Given the description of an element on the screen output the (x, y) to click on. 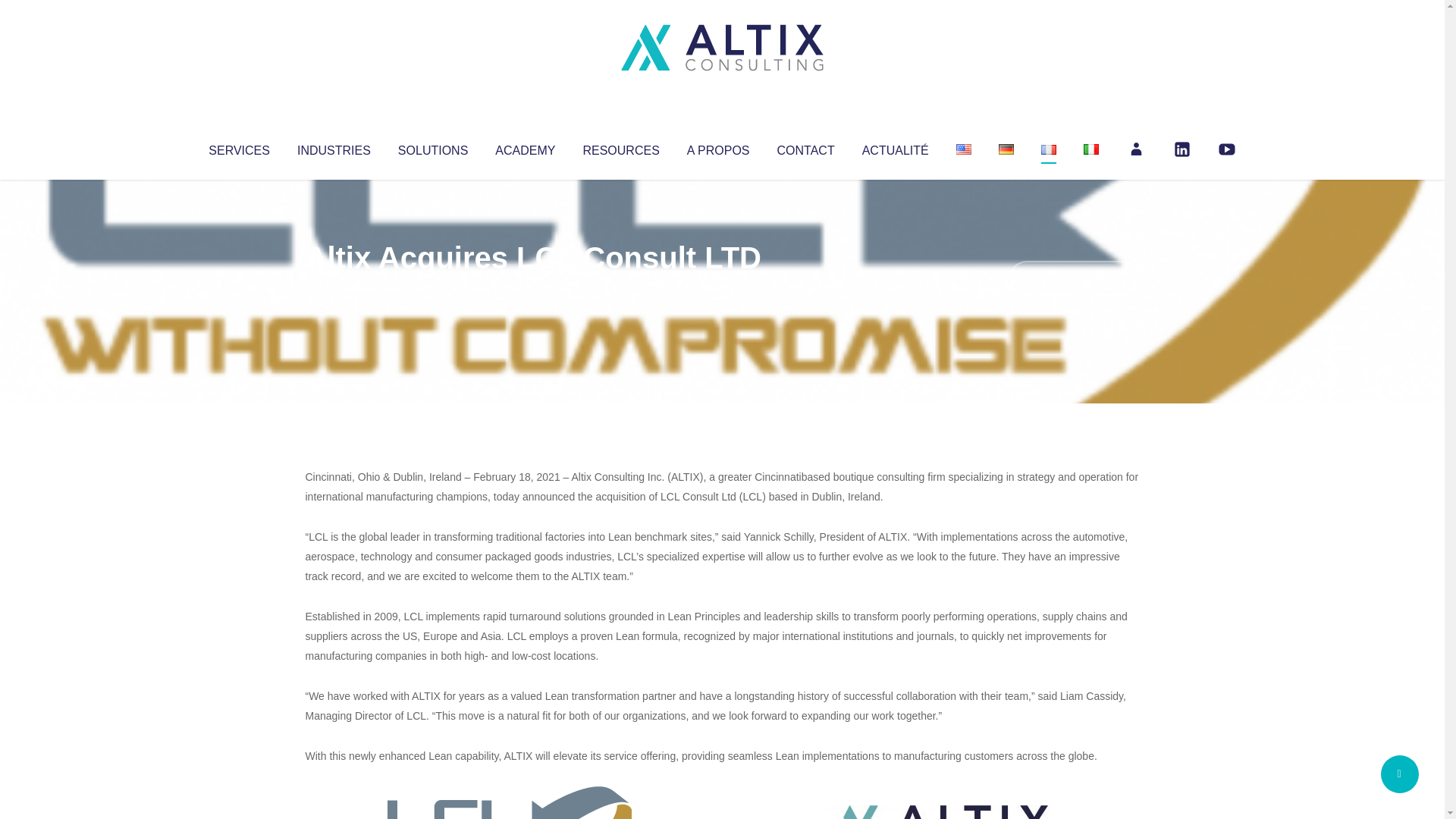
No Comments (1073, 278)
A PROPOS (718, 146)
Articles par Altix (333, 287)
Uncategorized (530, 287)
RESOURCES (620, 146)
INDUSTRIES (334, 146)
Altix (333, 287)
SERVICES (238, 146)
ACADEMY (524, 146)
SOLUTIONS (432, 146)
